Given the description of an element on the screen output the (x, y) to click on. 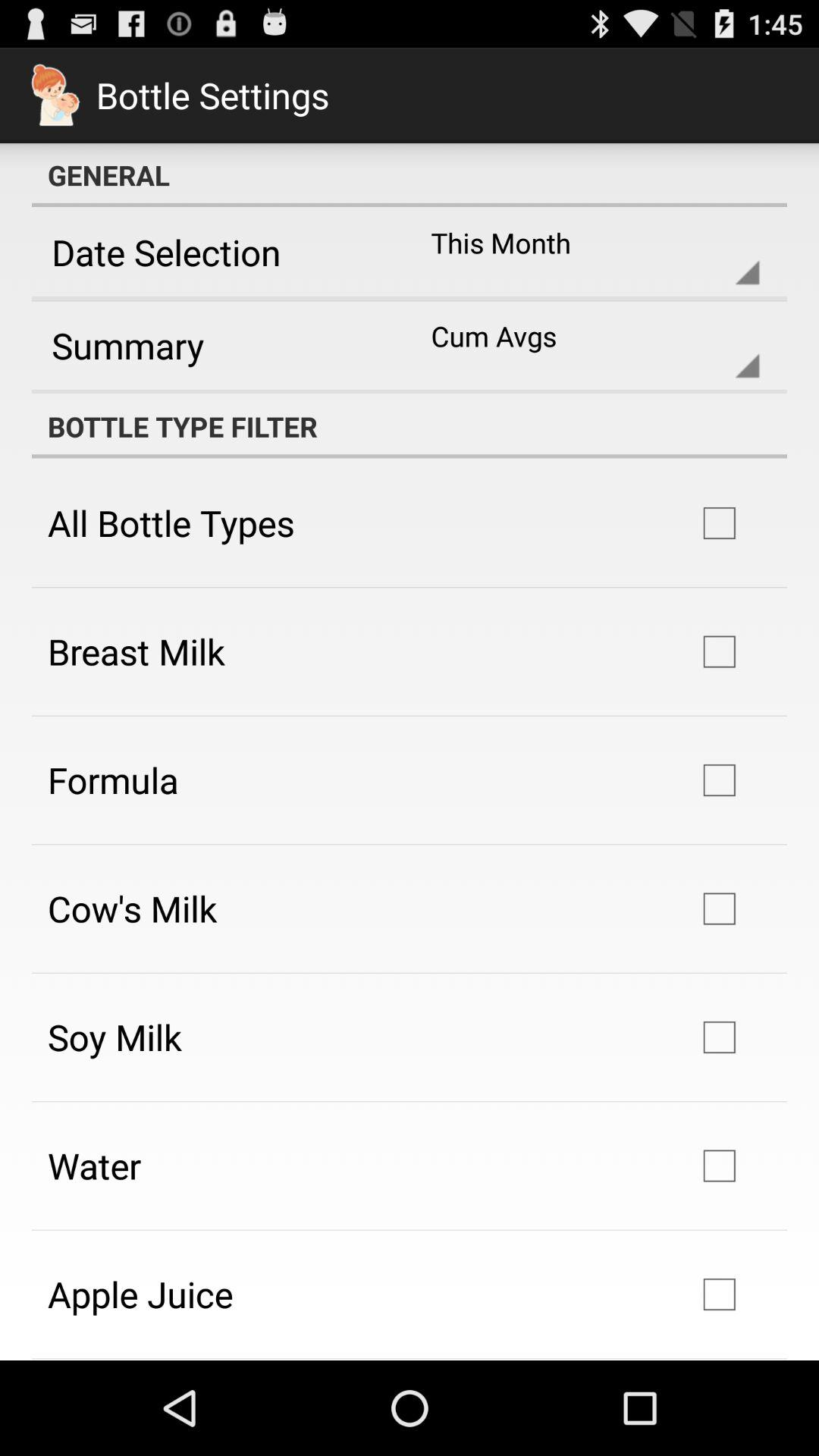
turn off the water icon (94, 1165)
